Given the description of an element on the screen output the (x, y) to click on. 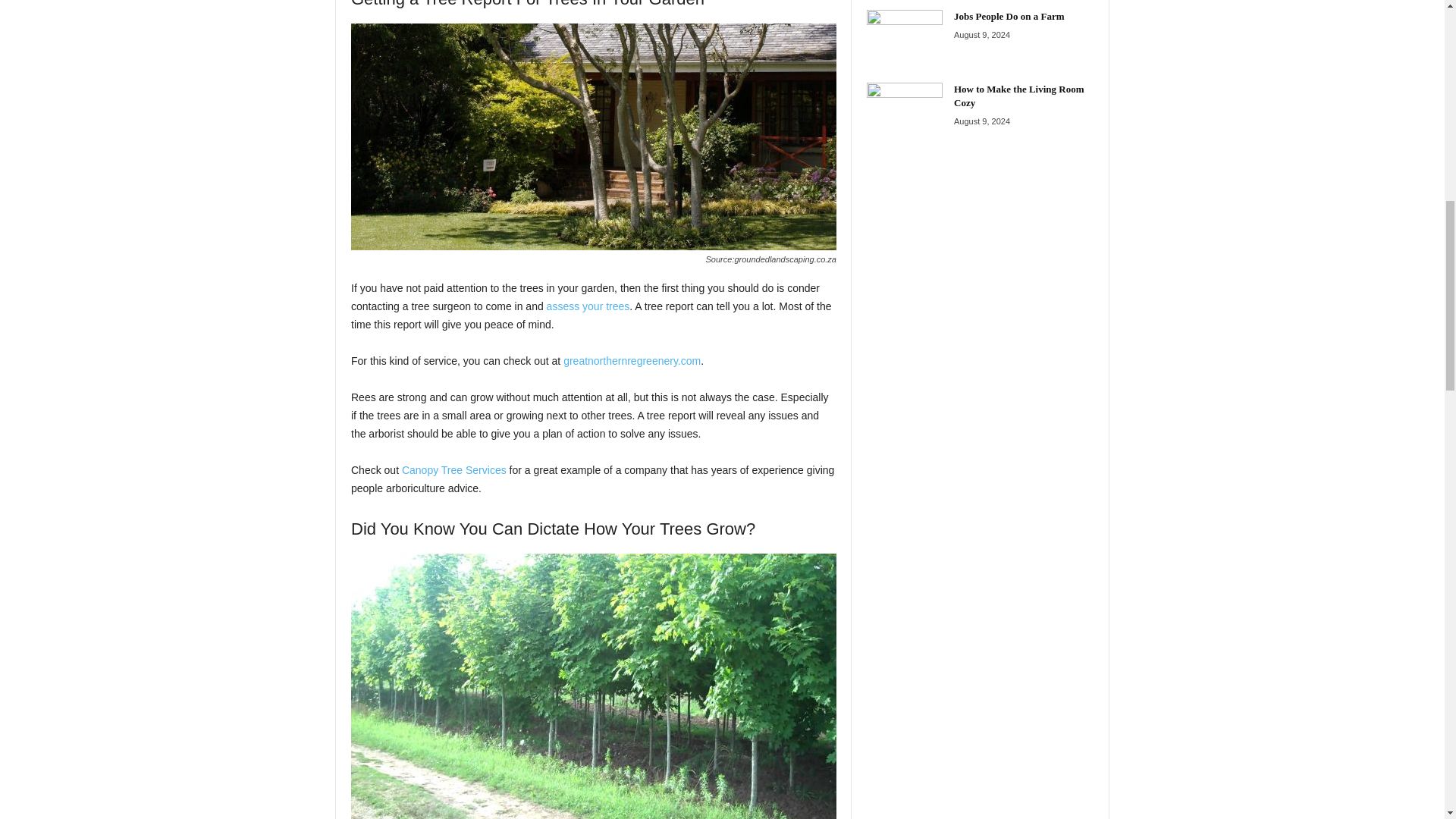
greatnorthernregreenery.com (631, 360)
assess your trees (588, 306)
Canopy Tree Services (453, 469)
